Given the description of an element on the screen output the (x, y) to click on. 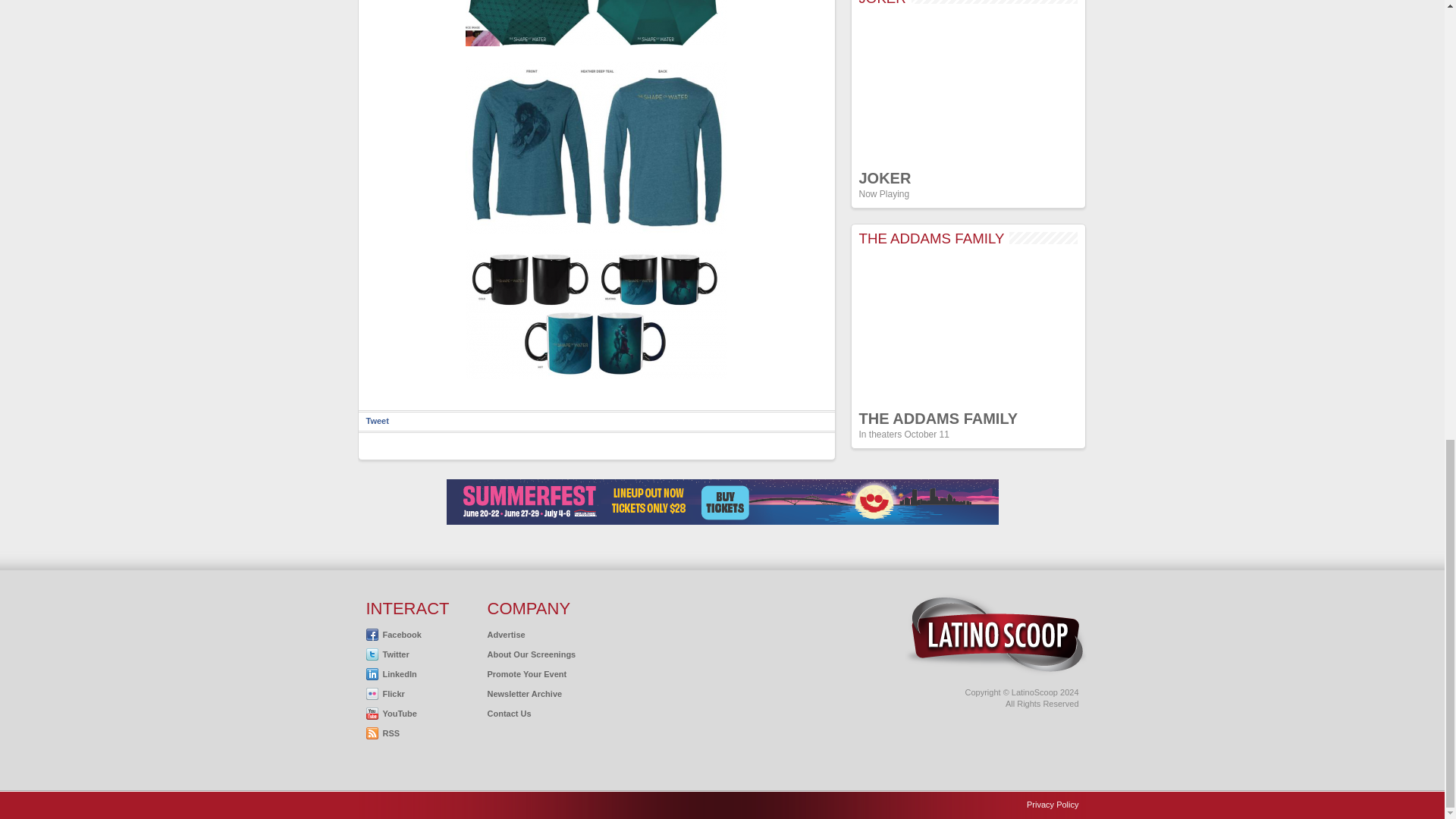
LinkedIn (390, 674)
LatinoScoop on Facebook (392, 634)
Twitter (387, 654)
YouTube video player (968, 328)
Flickr (384, 693)
Facebook (392, 634)
Tweet (376, 420)
YouTube video player (968, 87)
